Given the description of an element on the screen output the (x, y) to click on. 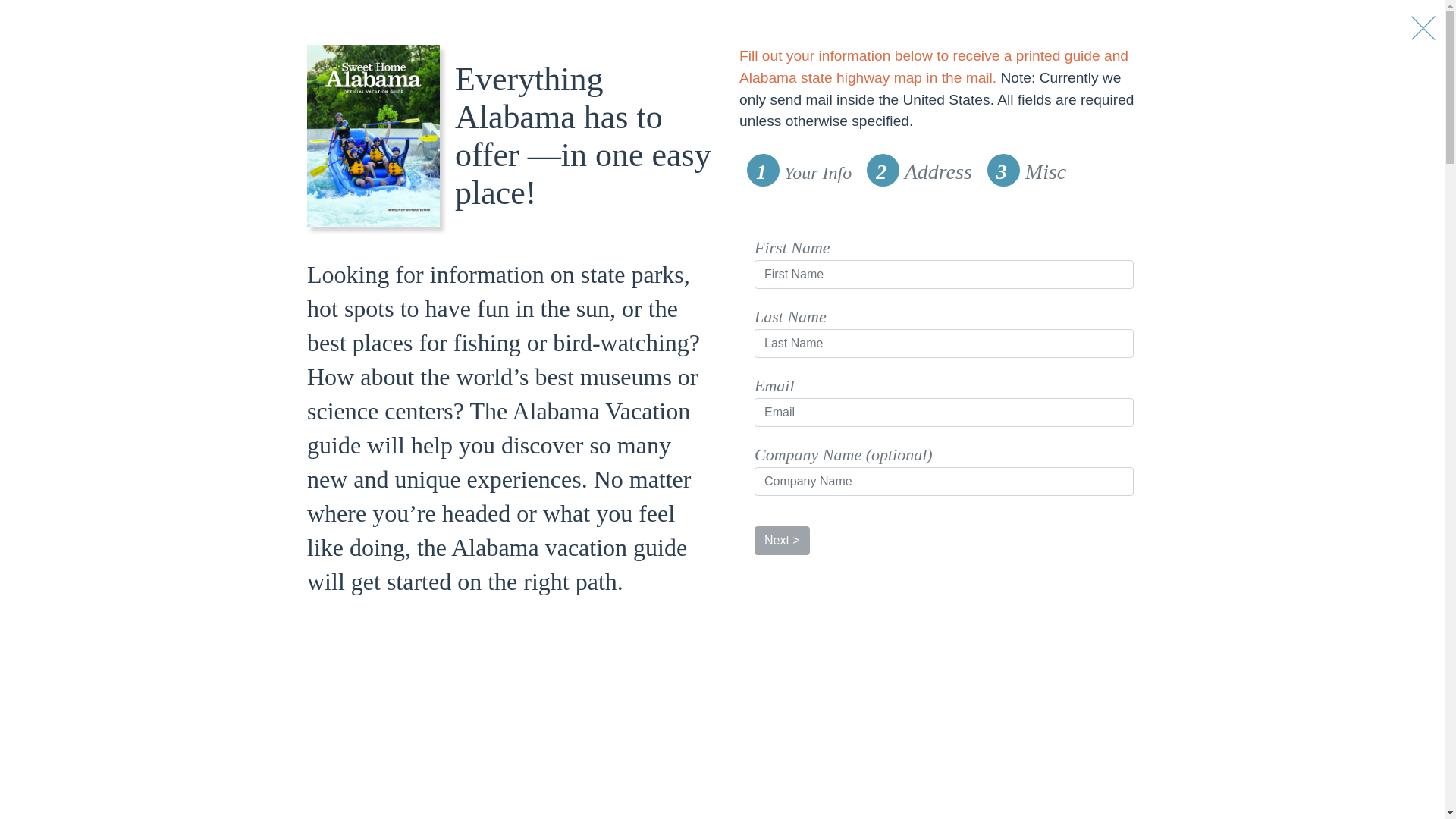
Places to Go (467, 33)
Experiences (299, 33)
